Given the description of an element on the screen output the (x, y) to click on. 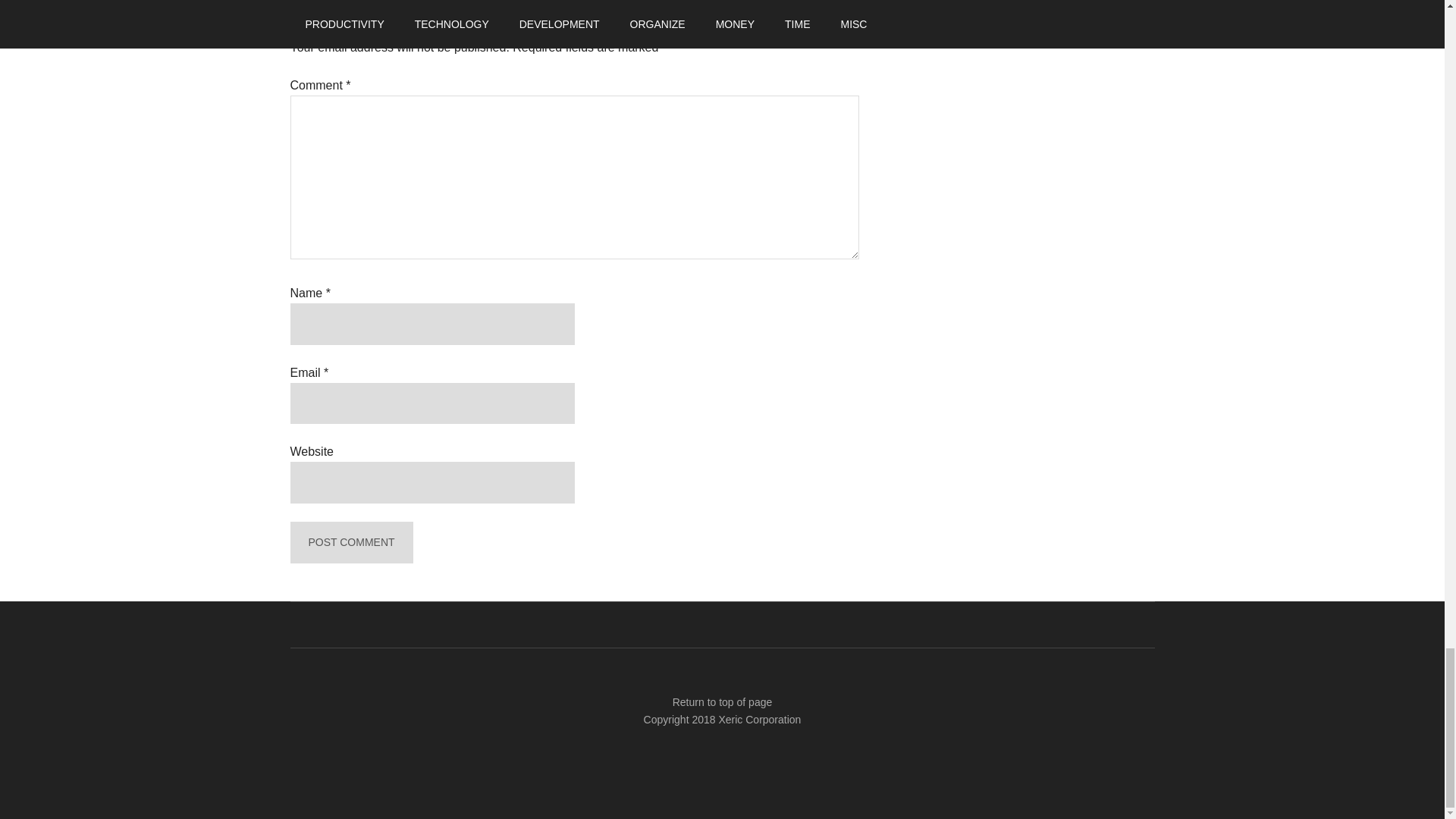
Post Comment (350, 542)
